Given the description of an element on the screen output the (x, y) to click on. 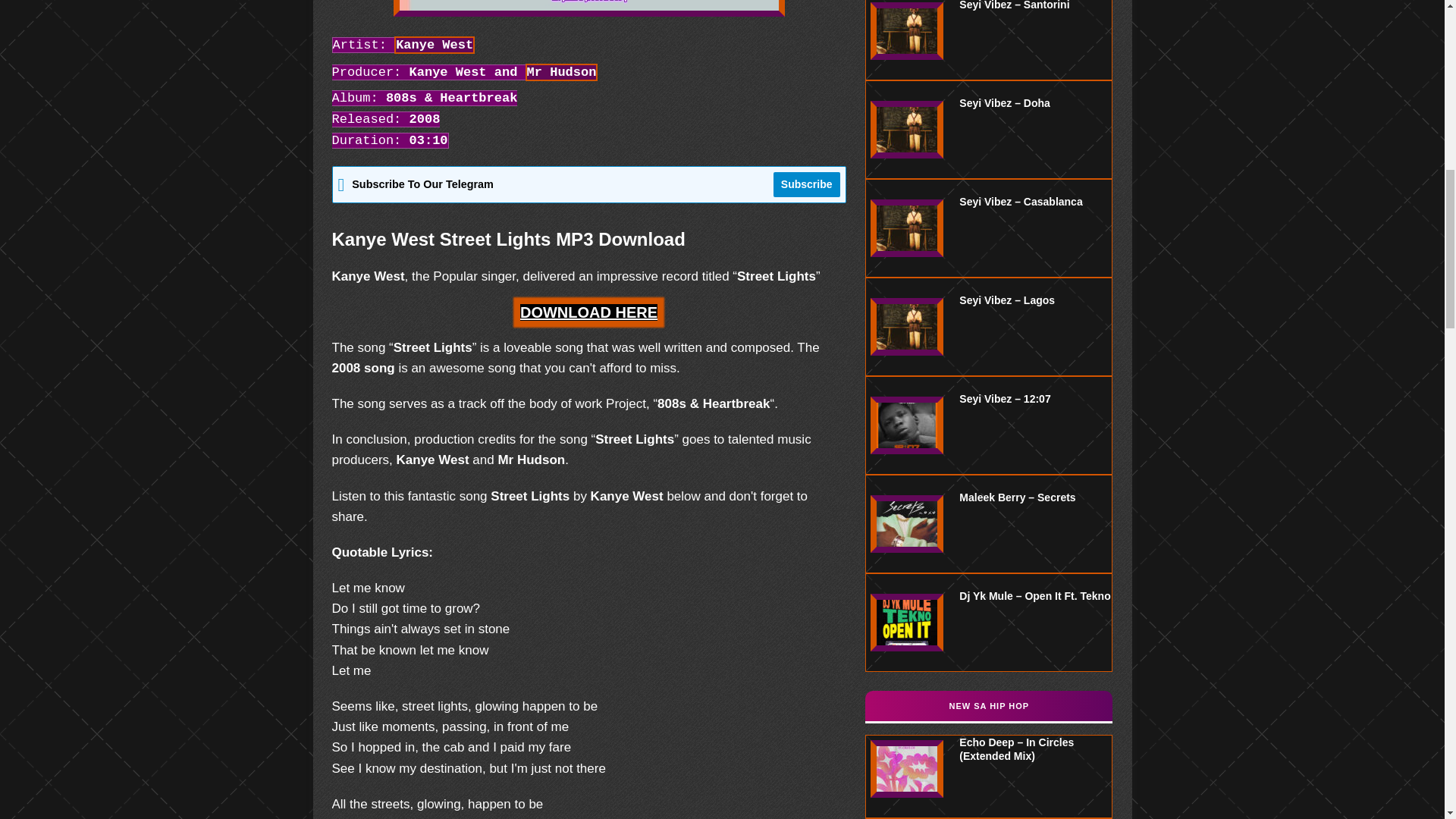
Kanye West - Bad News (588, 8)
Posts tagged with Mr Hudson (561, 72)
Posts tagged with Kanye west (434, 45)
